Given the description of an element on the screen output the (x, y) to click on. 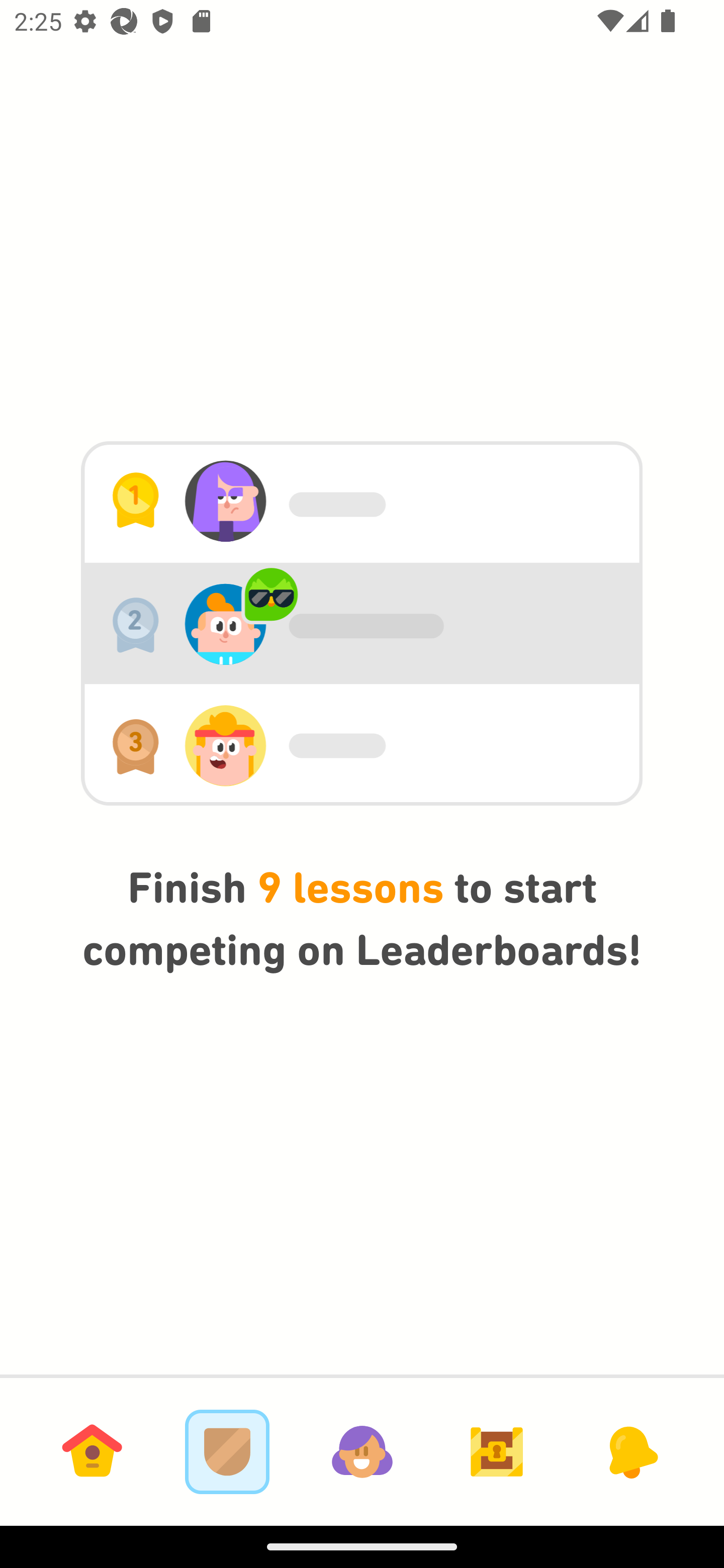
Learn Tab (91, 1451)
Leagues Tab (227, 1451)
Profile Tab (361, 1451)
Goals Tab (496, 1451)
News Tab (631, 1451)
